Given the description of an element on the screen output the (x, y) to click on. 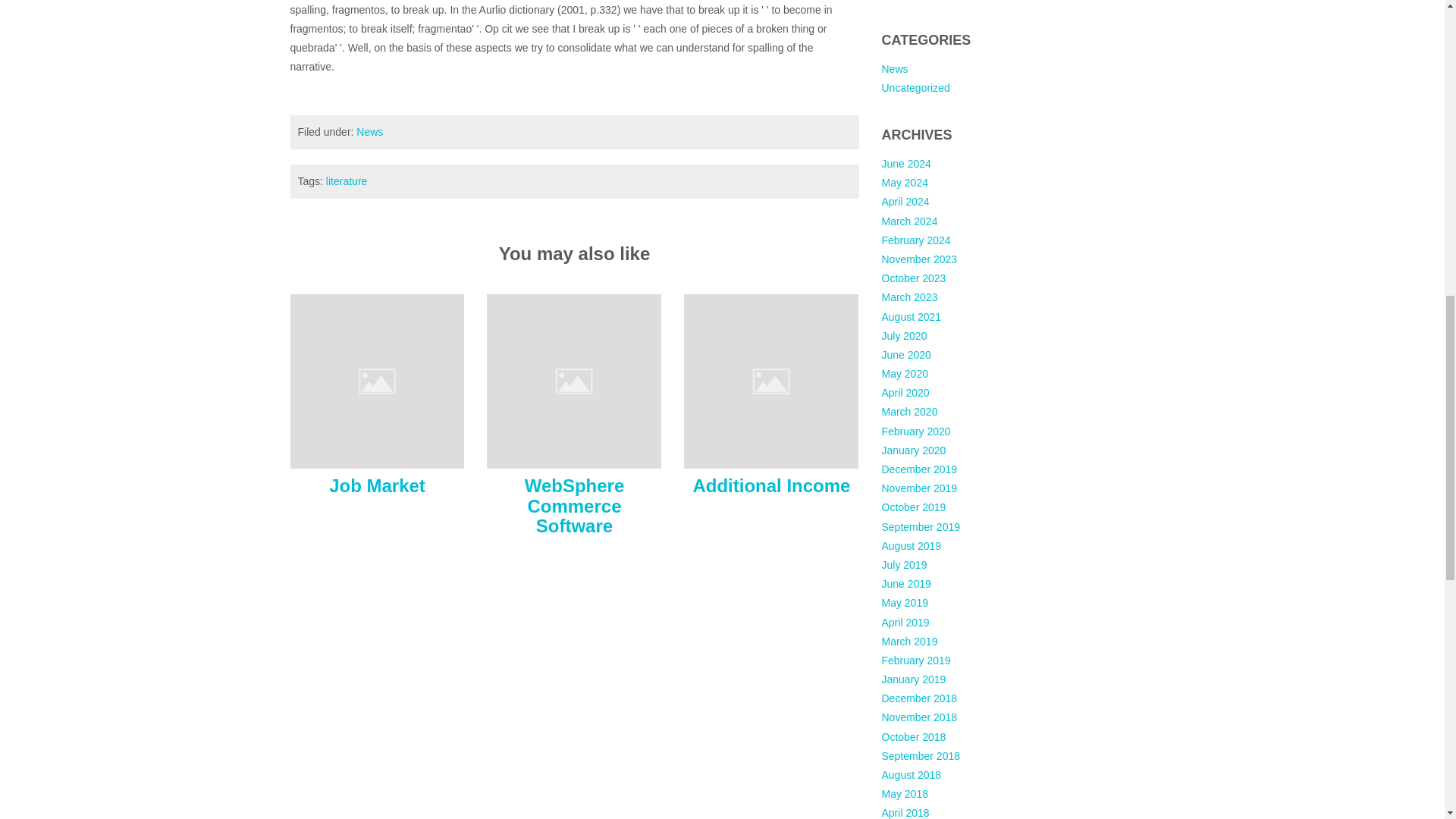
Additional Income (771, 380)
Uncategorized (914, 87)
January 2020 (912, 450)
November 2019 (918, 488)
May 2020 (903, 373)
March 2024 (908, 221)
Job Market (376, 380)
March 2020 (908, 411)
Additional Income (771, 485)
literature (346, 181)
